Given the description of an element on the screen output the (x, y) to click on. 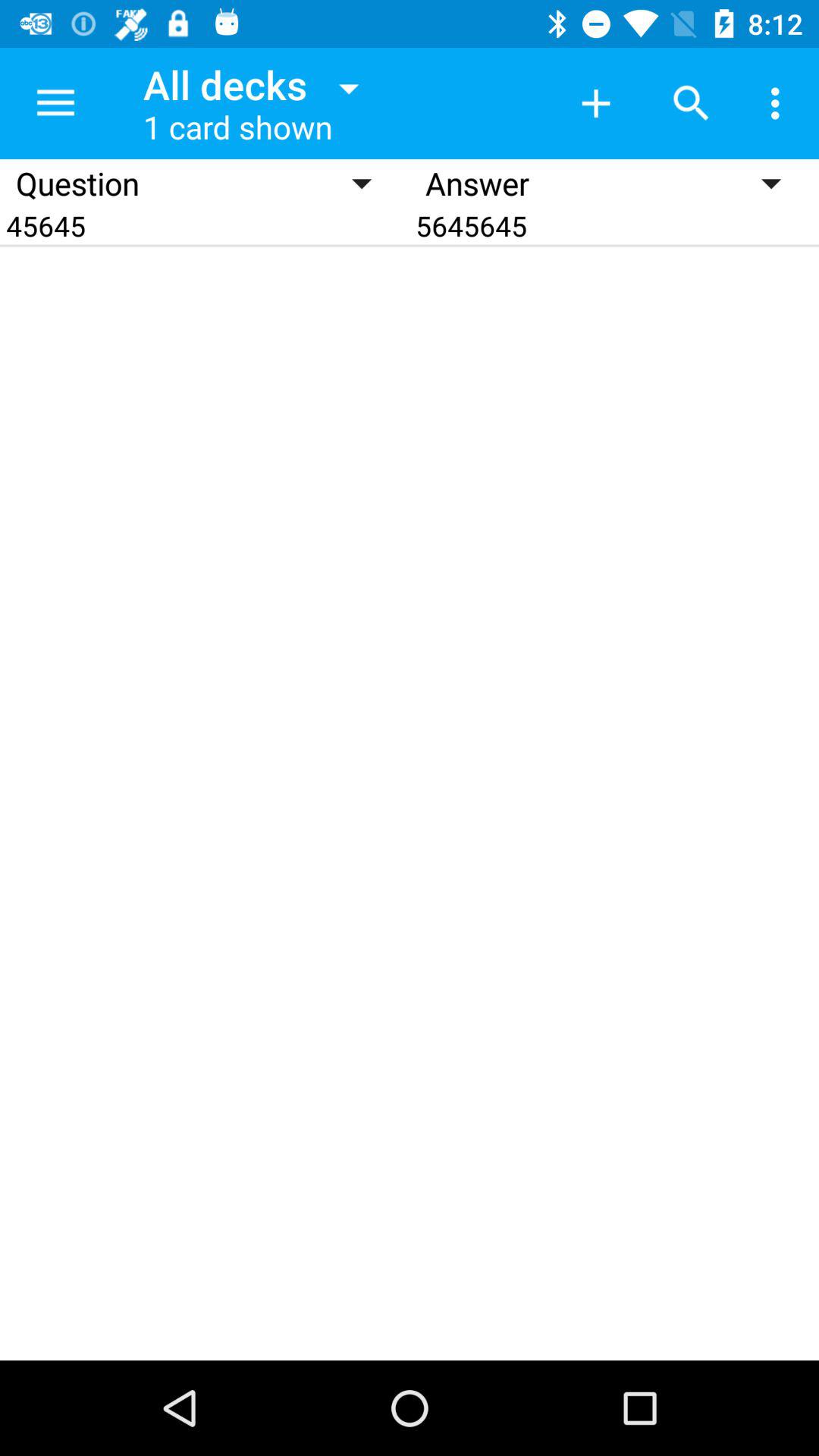
turn off item above the 5645645 item (779, 103)
